Given the description of an element on the screen output the (x, y) to click on. 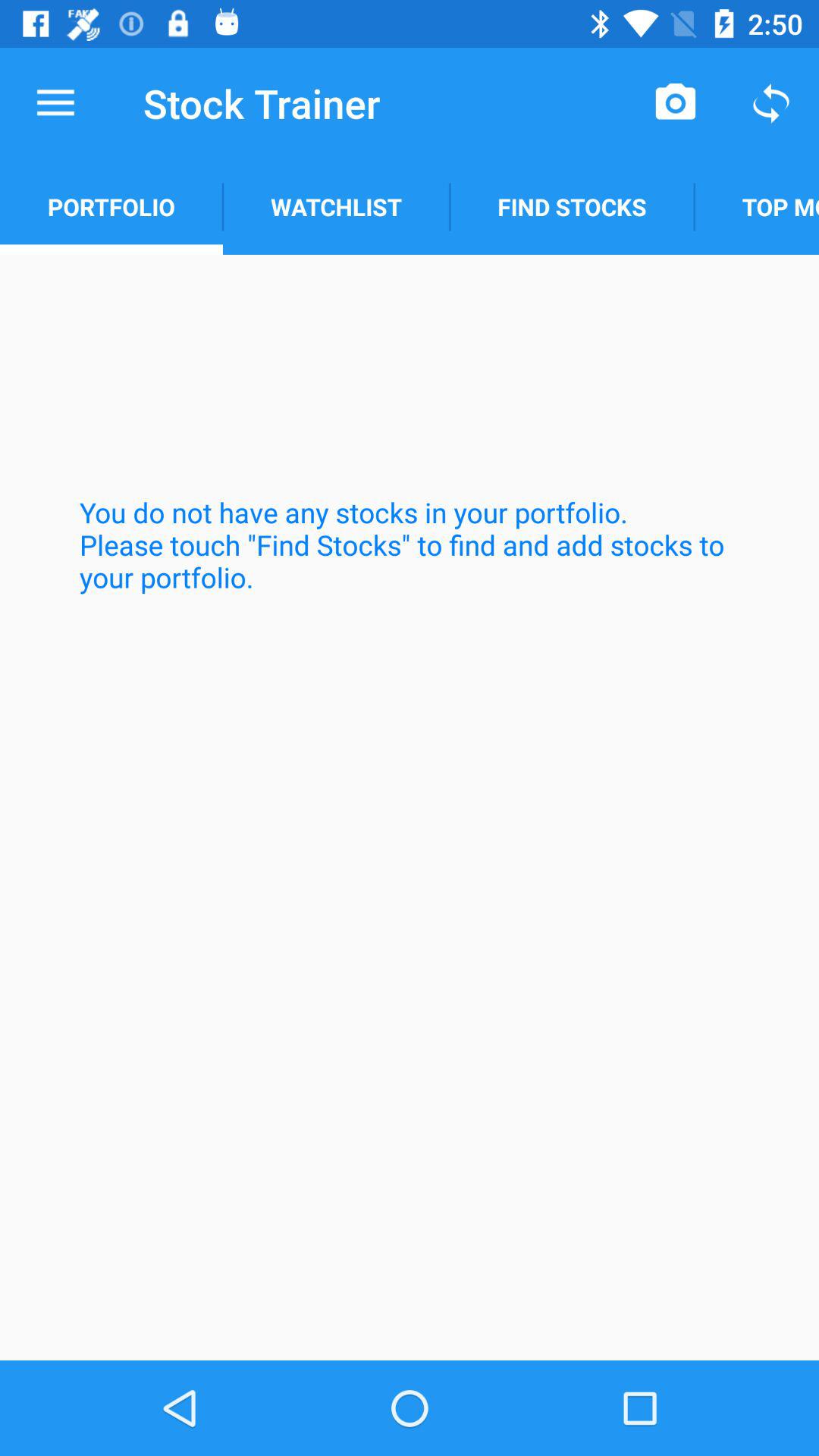
turn off the watchlist item (335, 206)
